Given the description of an element on the screen output the (x, y) to click on. 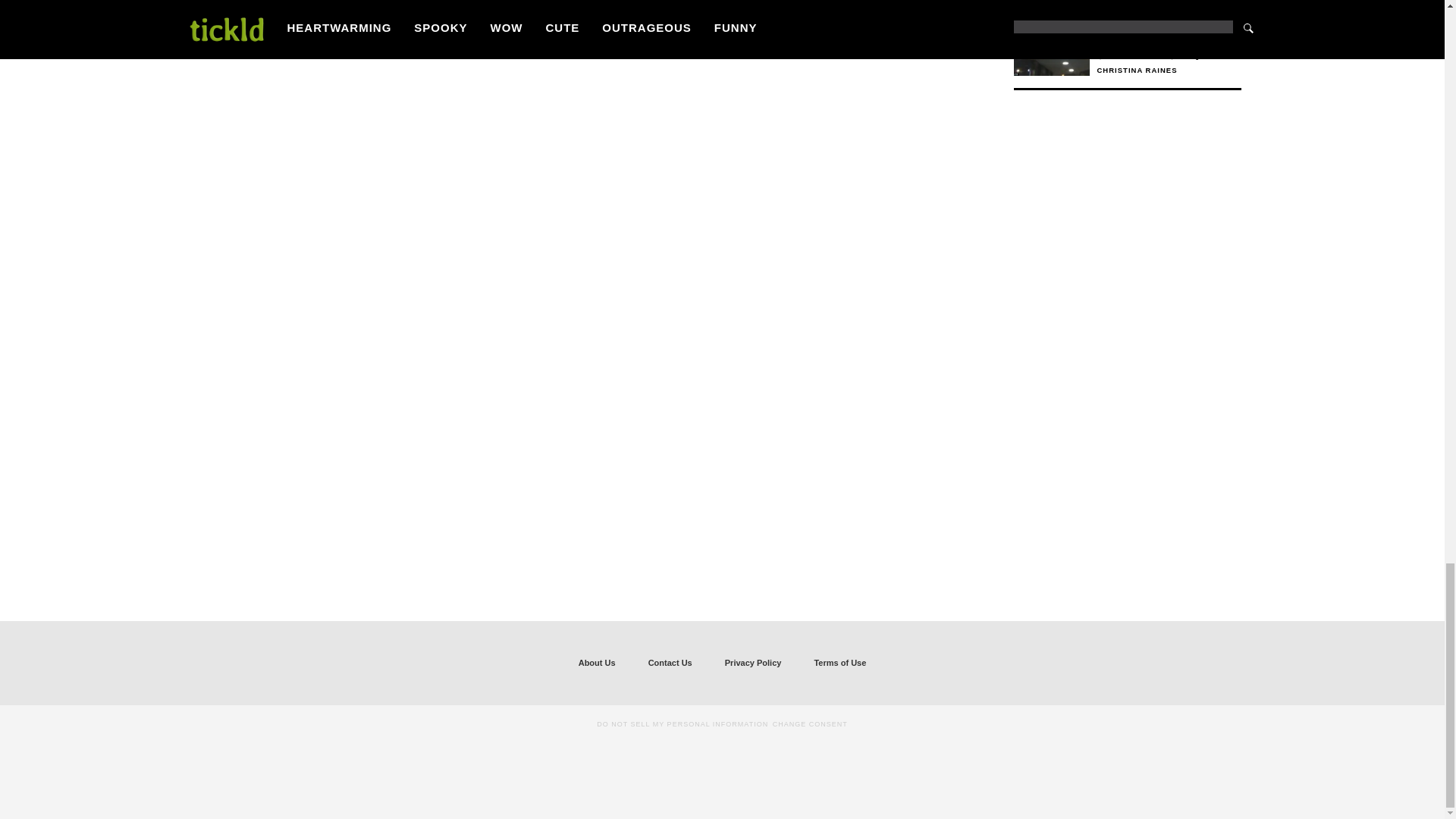
CHANGE CONSENT (810, 723)
Privacy Policy (753, 662)
Contact Us (670, 662)
Terms of Use (838, 662)
DO NOT SELL MY PERSONAL INFORMATION (682, 723)
Outrageous (1168, 3)
About Us (596, 662)
